Given the description of an element on the screen output the (x, y) to click on. 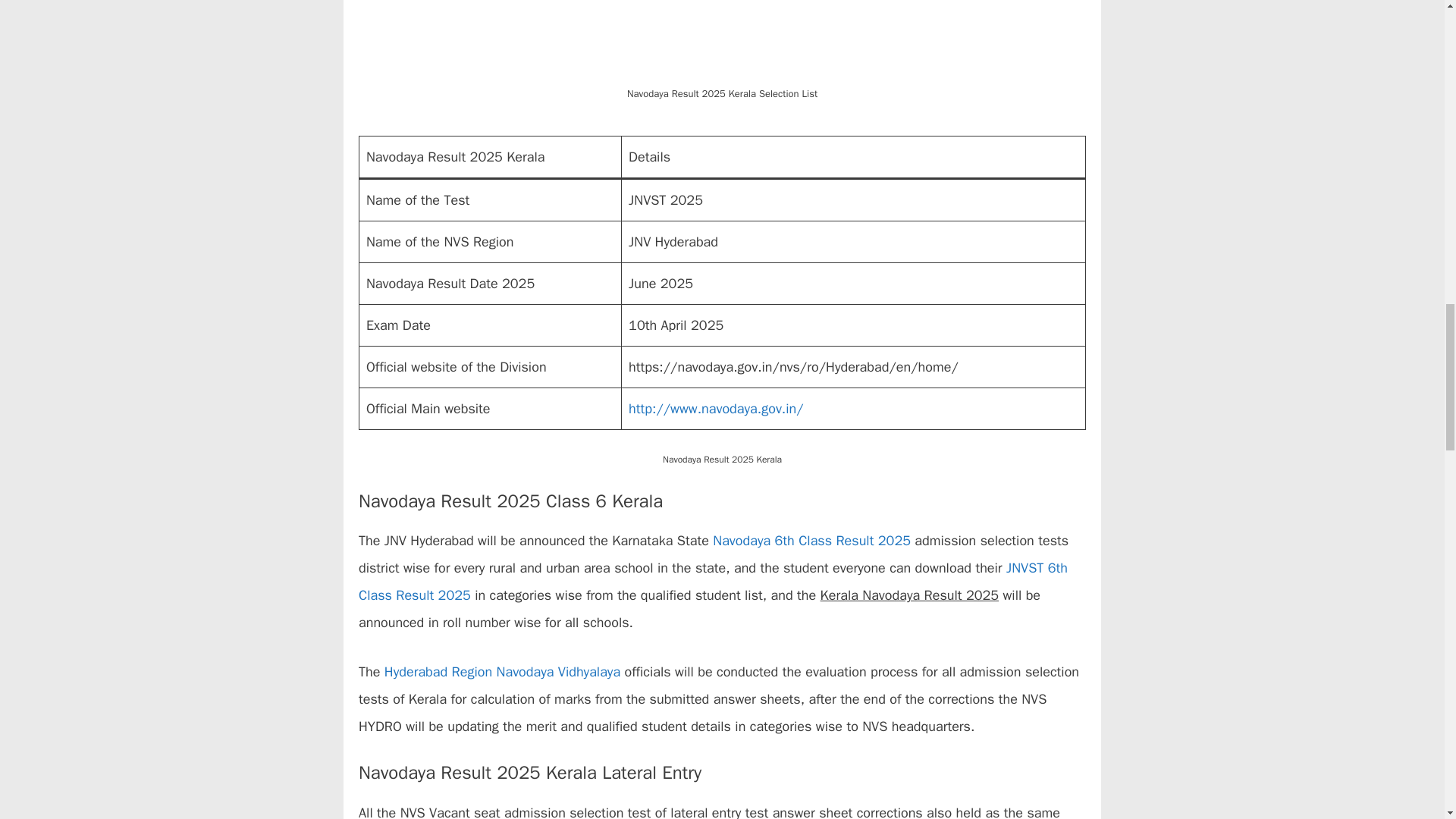
Navodaya 6th Class Result 2025 (812, 540)
Hyderabad Region Navodaya Vidhyalaya (502, 671)
JNVST 6th Class Result 2025 (712, 581)
